Given the description of an element on the screen output the (x, y) to click on. 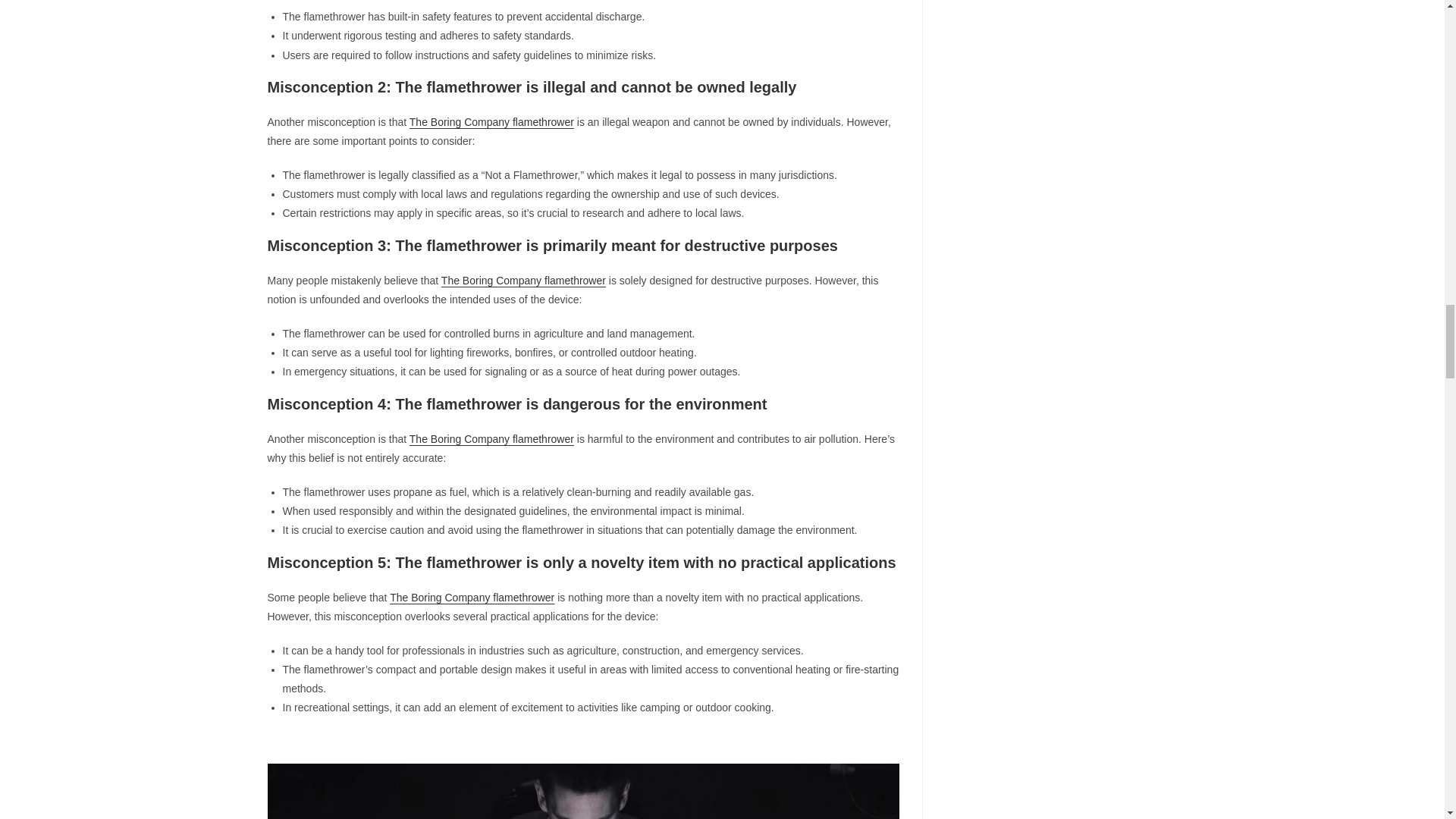
The Boring Company flamethrower (523, 280)
The Boring Company flamethrower (472, 597)
Boring Company Flamethrower YouTube (582, 791)
The Boring Company flamethrower (491, 439)
The Boring Company flamethrower (491, 121)
